Given the description of an element on the screen output the (x, y) to click on. 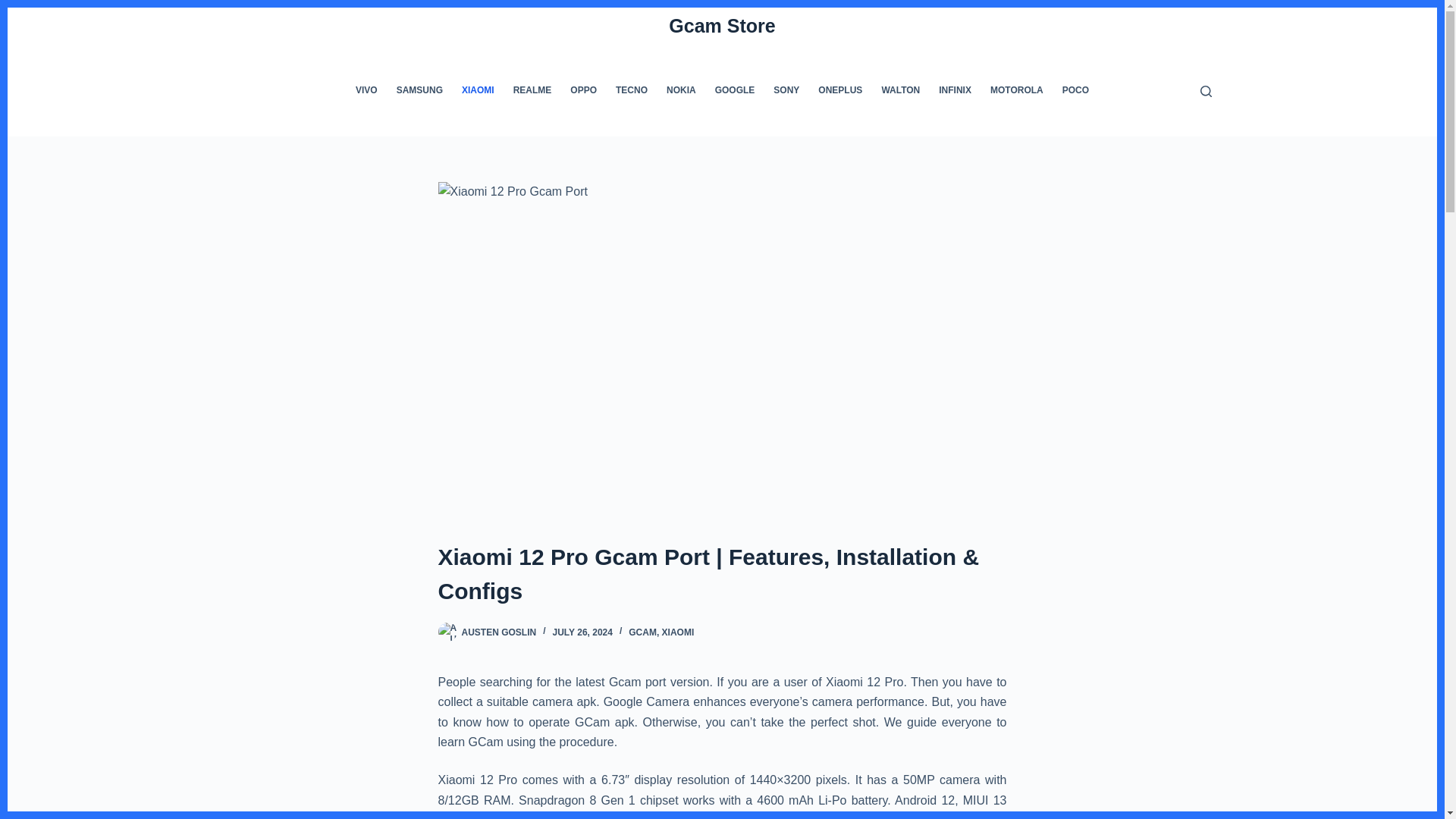
Gcam Store (721, 25)
Skip to content (15, 7)
GCAM (642, 632)
XIAOMI (678, 632)
Posts by Austen Goslin (498, 632)
AUSTEN GOSLIN (498, 632)
